Given the description of an element on the screen output the (x, y) to click on. 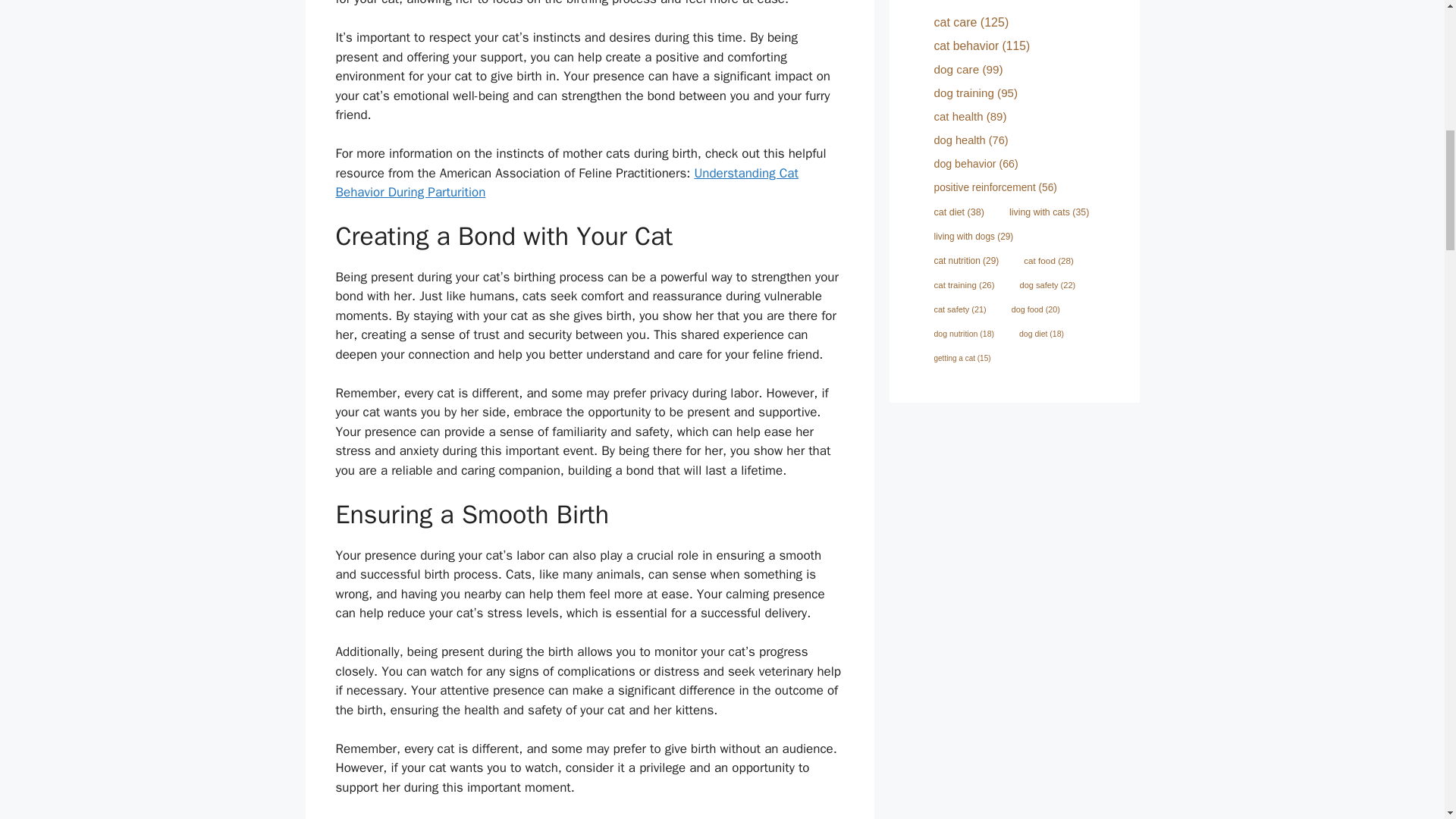
Understanding Cat Behavior During Parturition (565, 182)
